Given the description of an element on the screen output the (x, y) to click on. 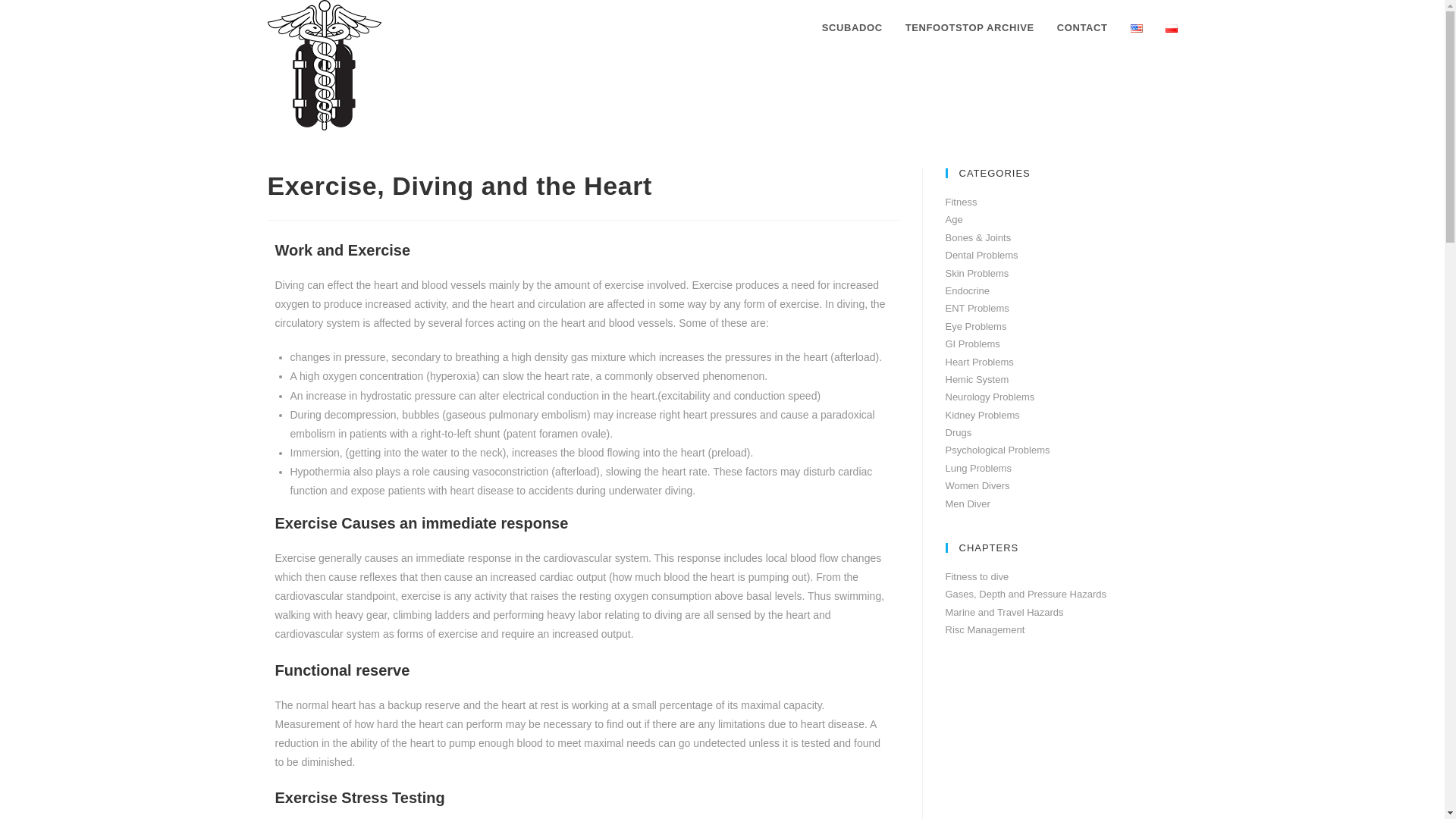
SCUBADOC (851, 28)
CONTACT (1082, 28)
TENFOOTSTOP ARCHIVE (969, 28)
